Given the description of an element on the screen output the (x, y) to click on. 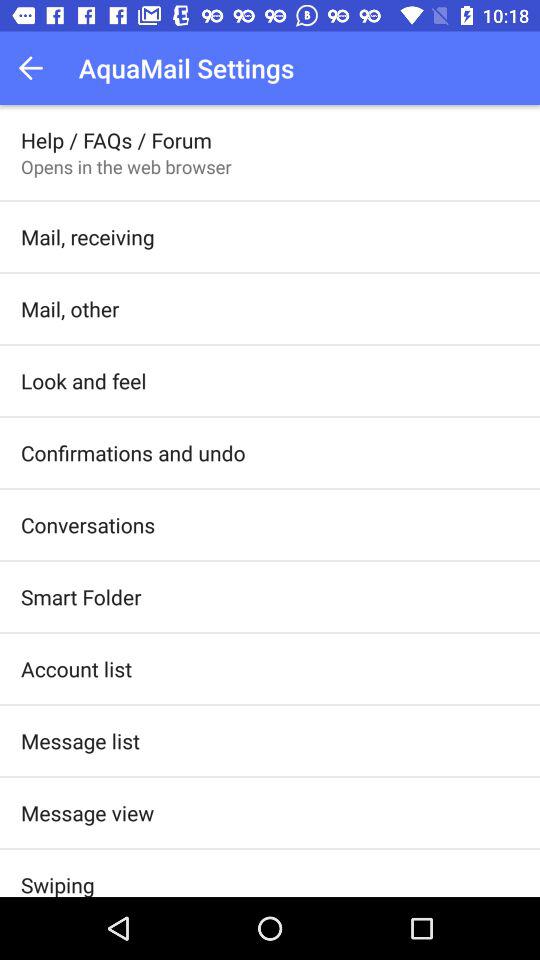
launch the message view app (87, 812)
